Given the description of an element on the screen output the (x, y) to click on. 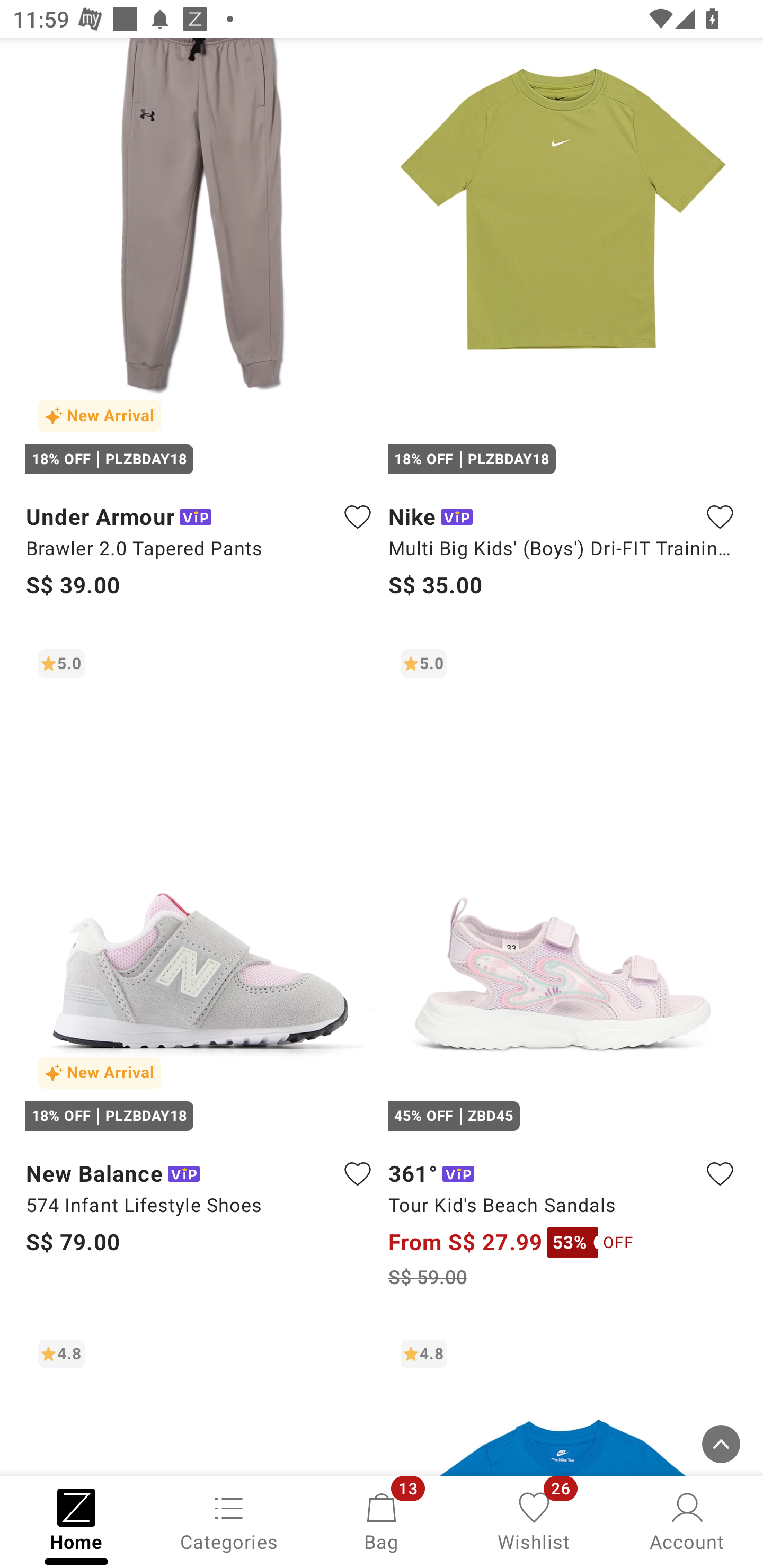
Categories (228, 1519)
Bag, 13 new notifications Bag (381, 1519)
Wishlist, 26 new notifications Wishlist (533, 1519)
Account (686, 1519)
